Given the description of an element on the screen output the (x, y) to click on. 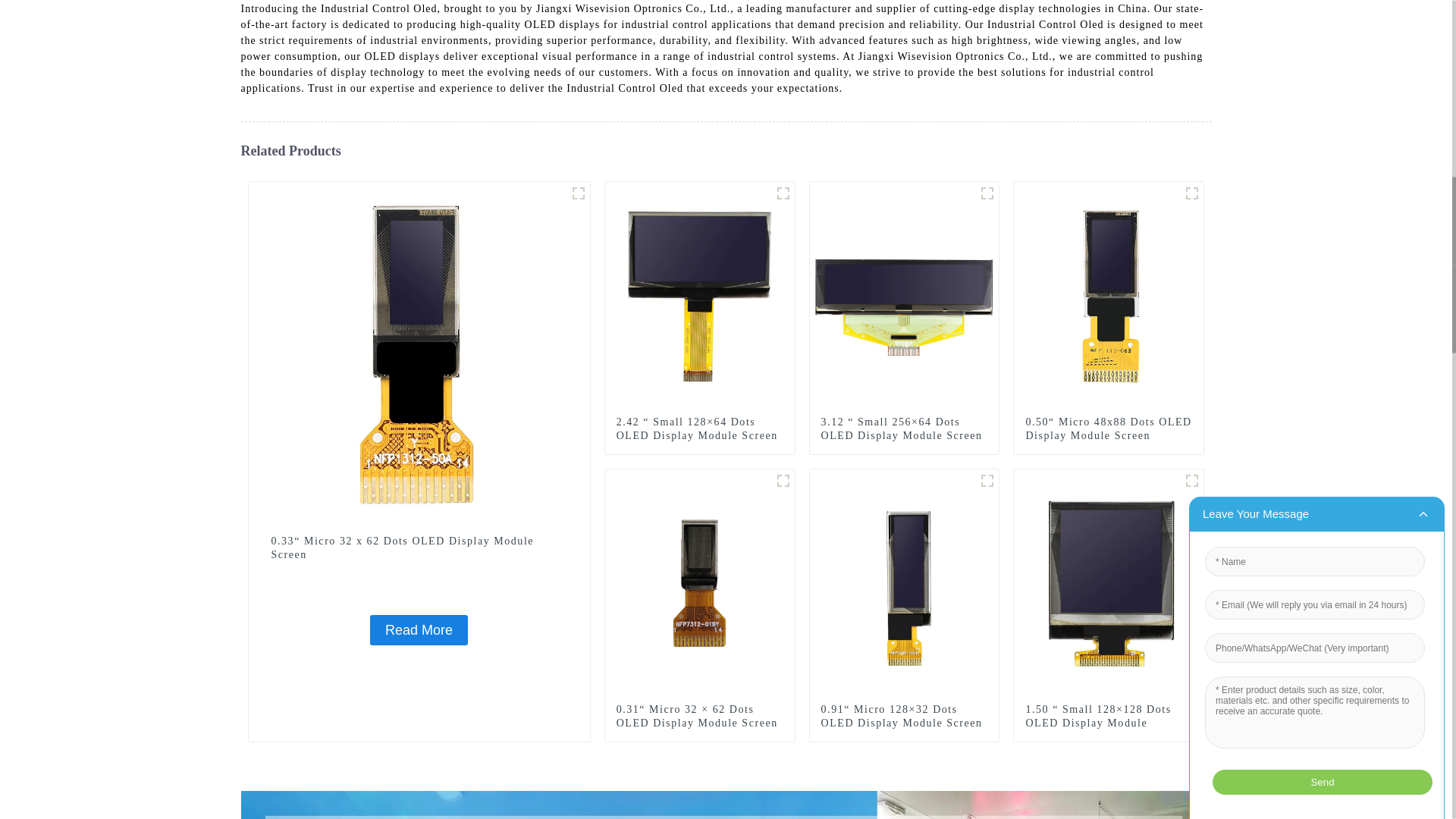
Read More (418, 630)
319-OLED3 (986, 192)
0.31 OLED Module (782, 480)
091-OLED2 (986, 480)
242-OLED2 (782, 192)
